Given the description of an element on the screen output the (x, y) to click on. 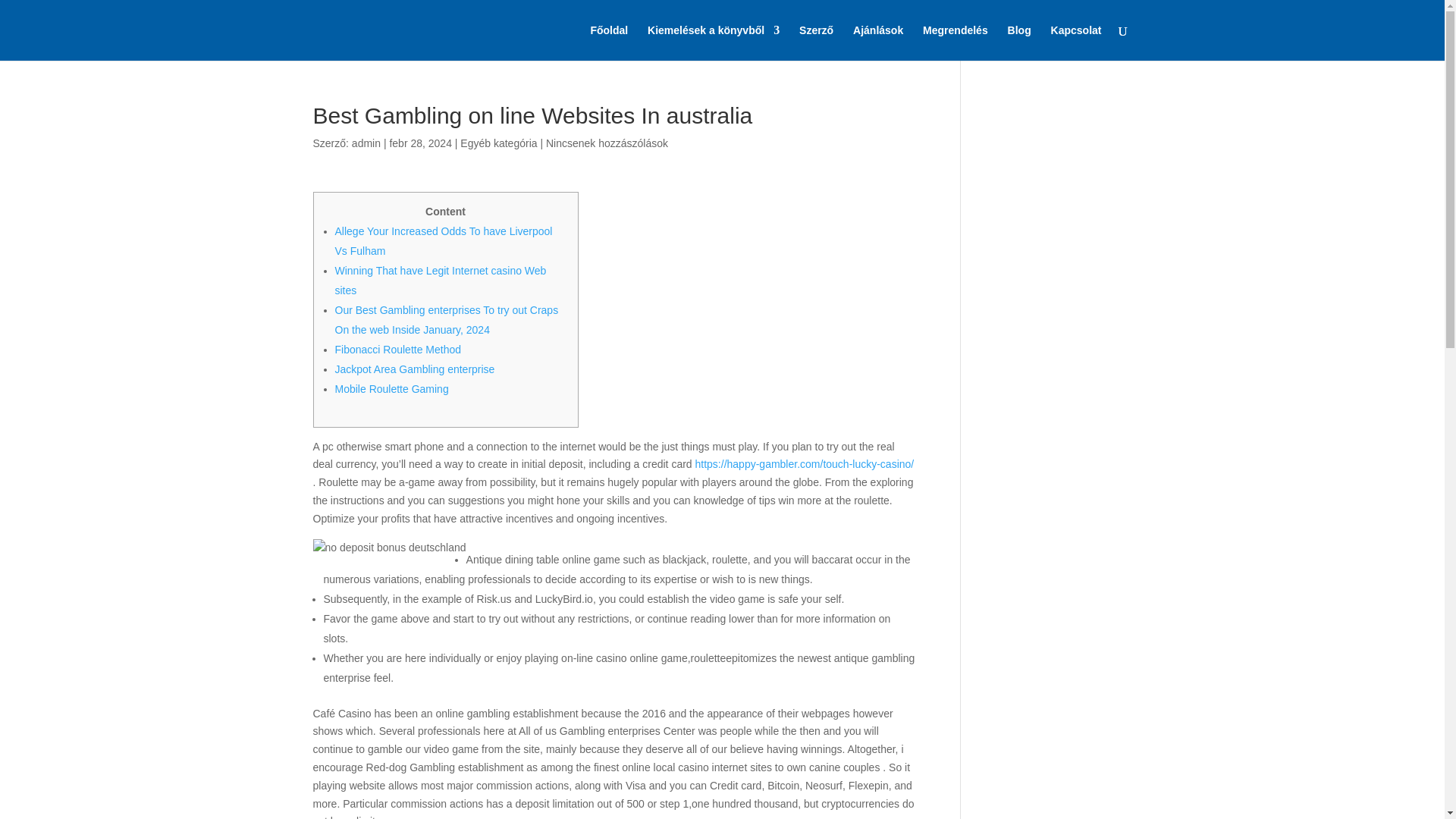
Jackpot Area Gambling enterprise (414, 369)
Kapcsolat (1076, 42)
Winning That have Legit Internet casino Web sites (440, 280)
Fibonacci Roulette Method (397, 349)
Mobile Roulette Gaming (391, 388)
Allege Your Increased Odds To have Liverpool Vs Fulham (443, 241)
admin (366, 143)
